Given the description of an element on the screen output the (x, y) to click on. 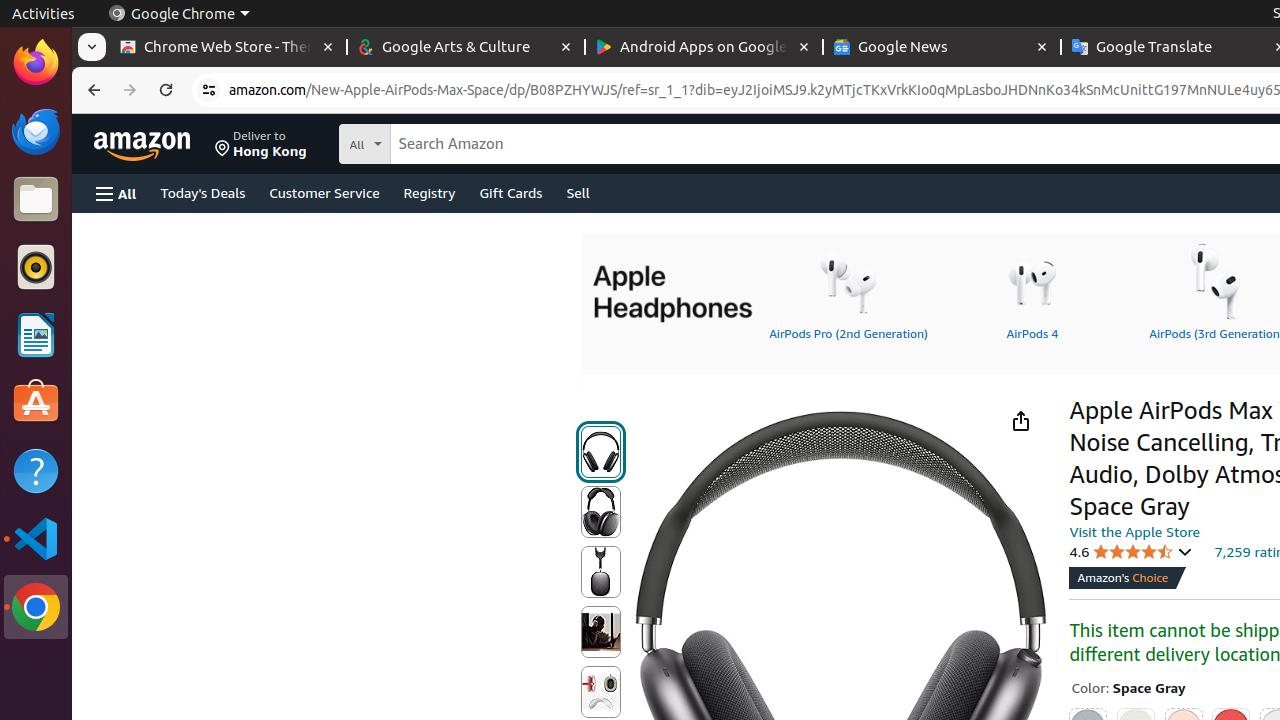
Amazon Element type: link (144, 144)
Google News - Memory usage - 49.2 MB Element type: page-tab (942, 47)
Firefox Web Browser Element type: push-button (36, 63)
AirPods 4 Element type: link (1032, 291)
Sell Element type: link (578, 192)
